Given the description of an element on the screen output the (x, y) to click on. 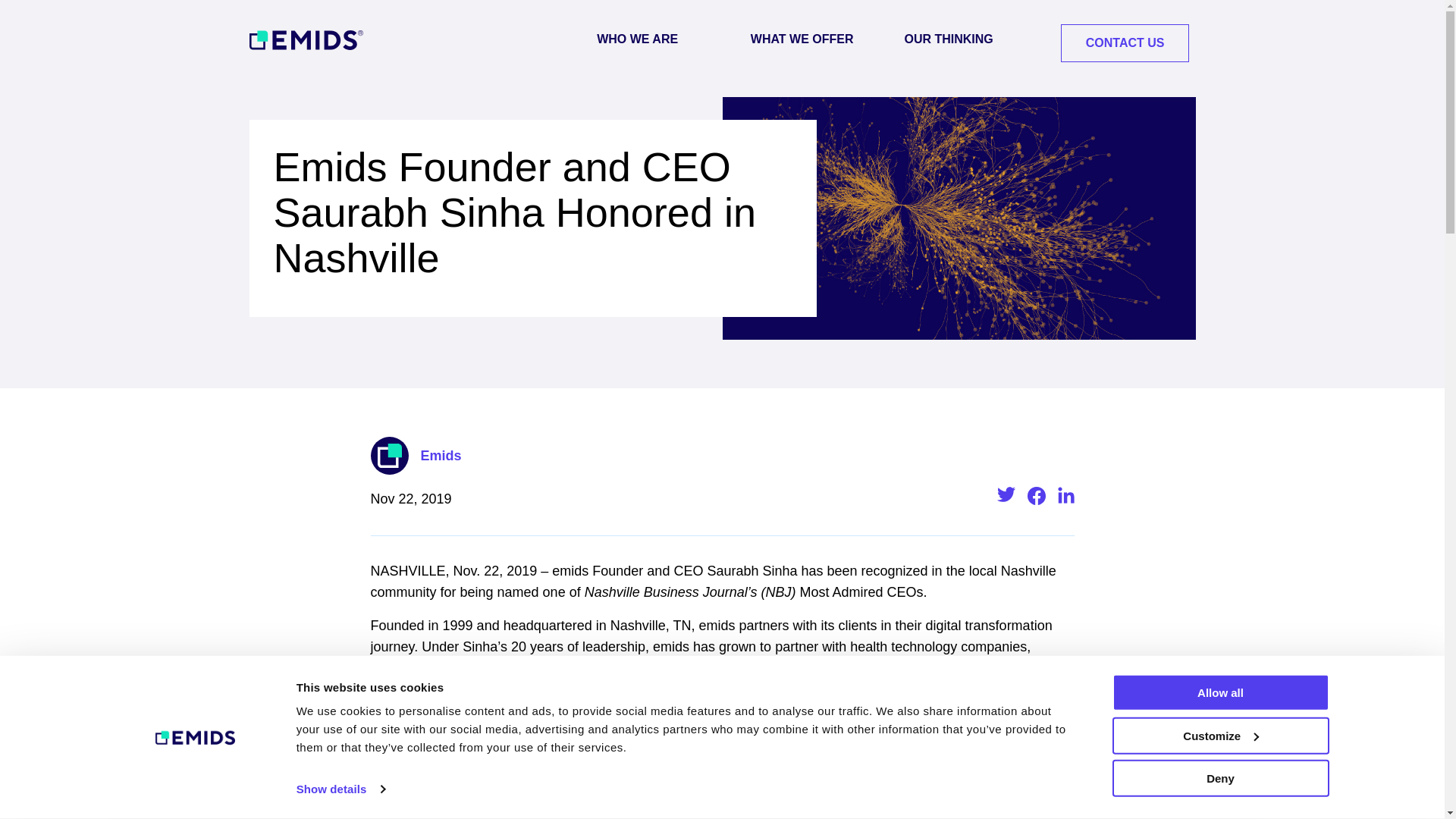
Show details (340, 789)
